Given the description of an element on the screen output the (x, y) to click on. 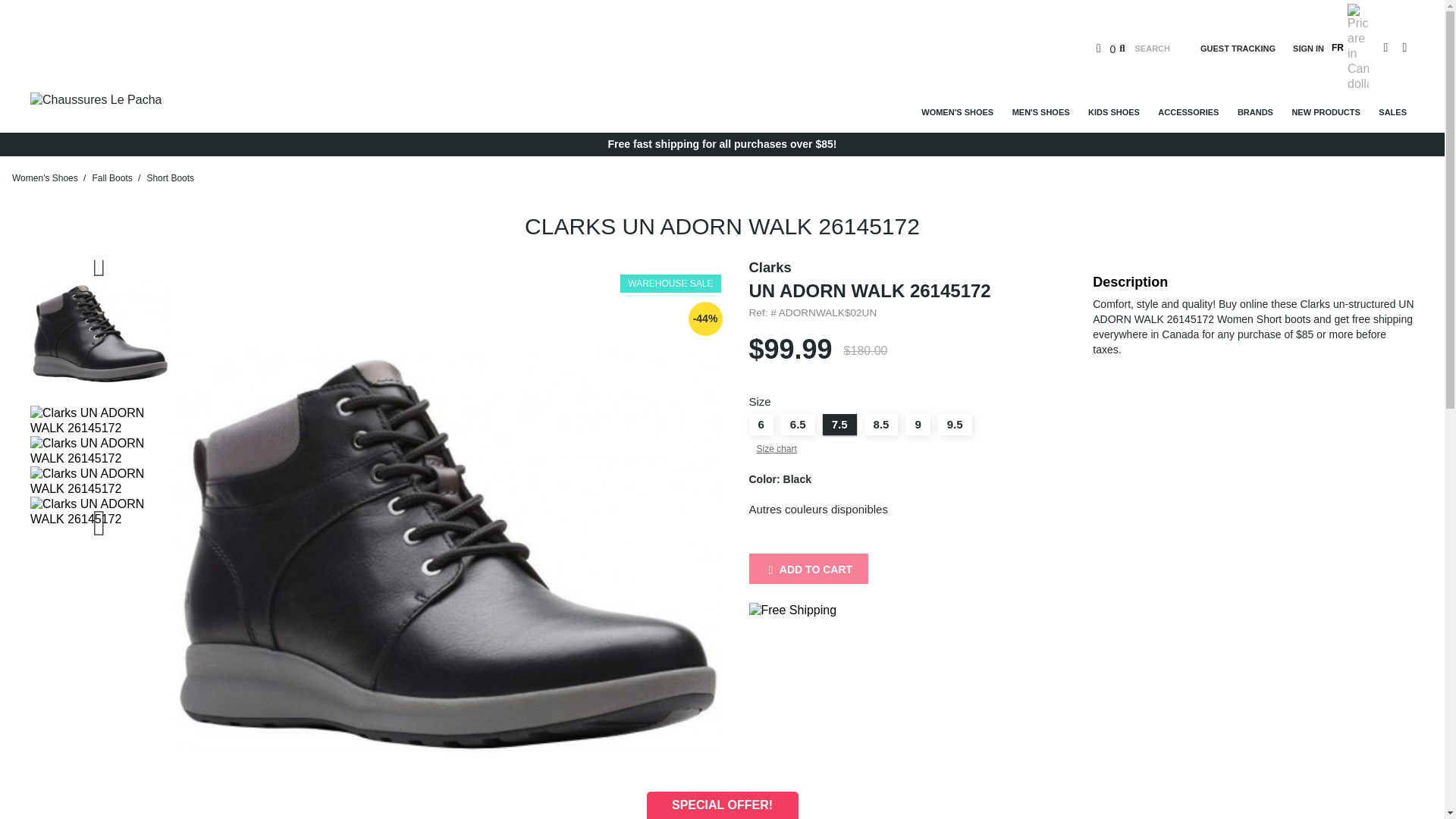
GUEST TRACKING (1238, 48)
Clarks UN ADORN WALK 26145172 (99, 420)
Free Shipping (793, 610)
Clarks UN ADORN WALK 26145172 (99, 450)
SEARCH (1144, 48)
FR (1337, 47)
MEN'S SHOES (1040, 111)
Log in to your customer account (1300, 48)
Clarks UN ADORN WALK 26145172 (99, 332)
